Given the description of an element on the screen output the (x, y) to click on. 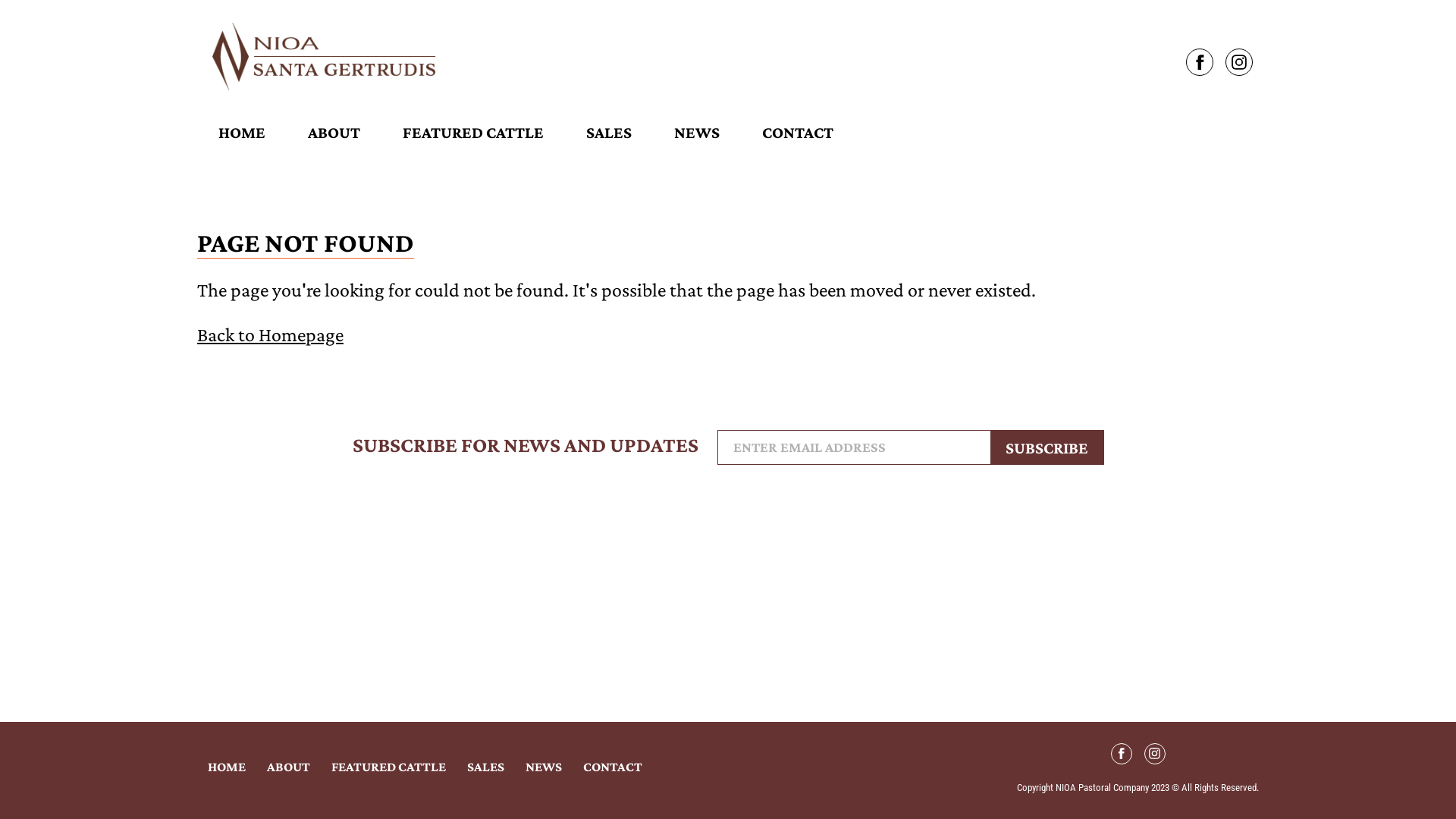
Back to Homepage Element type: text (270, 334)
NEWS Element type: text (543, 766)
HOME Element type: text (226, 766)
SALES Element type: text (485, 766)
NEWS Element type: text (696, 132)
CONTACT Element type: text (612, 766)
CONTACT Element type: text (797, 132)
HOME Element type: text (241, 132)
FEATURED CATTLE Element type: text (472, 132)
FEATURED CATTLE Element type: text (388, 766)
ABOUT Element type: text (288, 766)
SALES Element type: text (608, 132)
Subscribe Element type: text (1047, 446)
ABOUT Element type: text (333, 132)
